Given the description of an element on the screen output the (x, y) to click on. 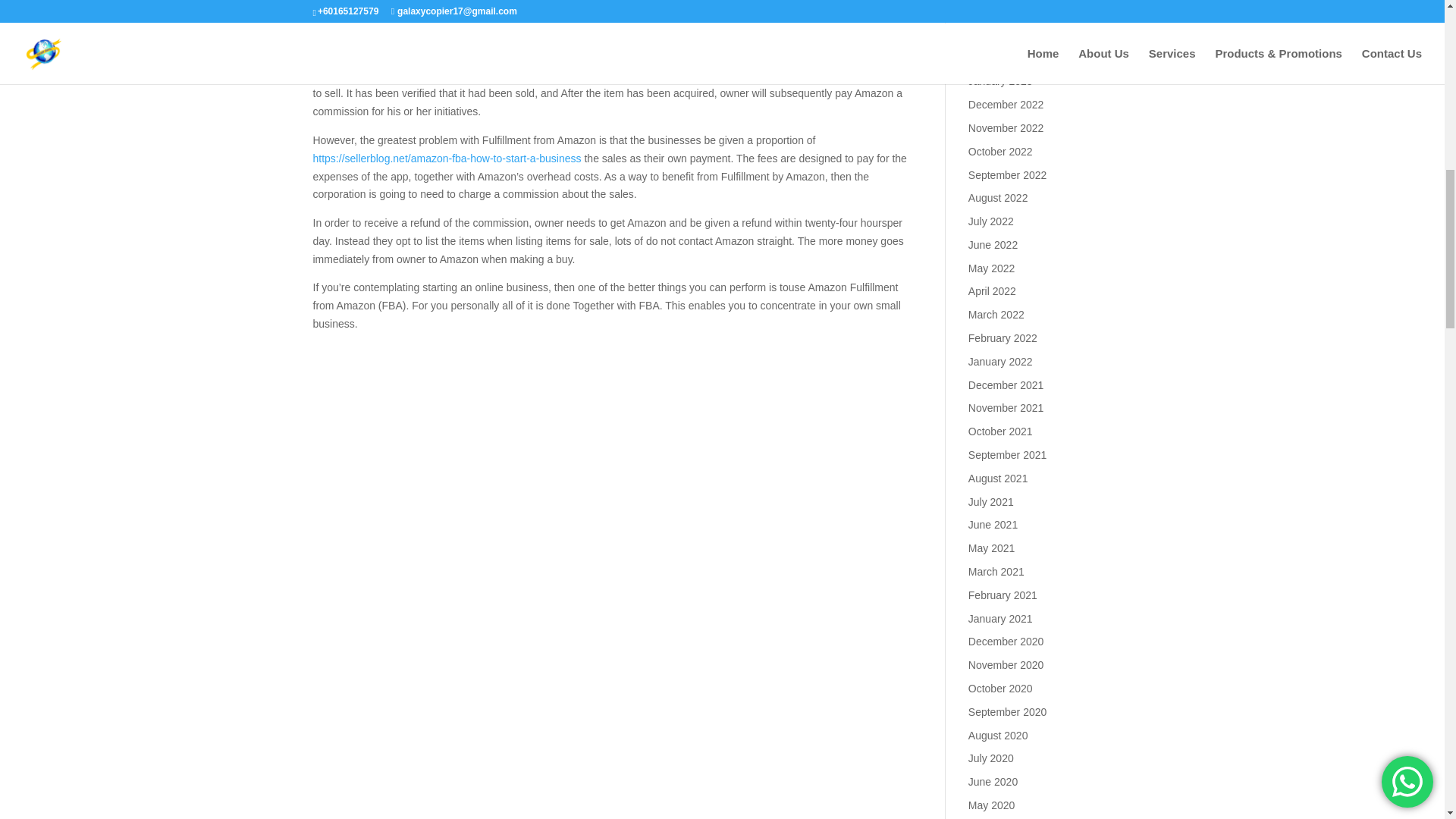
April 2023 (992, 10)
January 2023 (1000, 80)
February 2023 (1002, 58)
December 2022 (1005, 104)
March 2023 (996, 34)
